Given the description of an element on the screen output the (x, y) to click on. 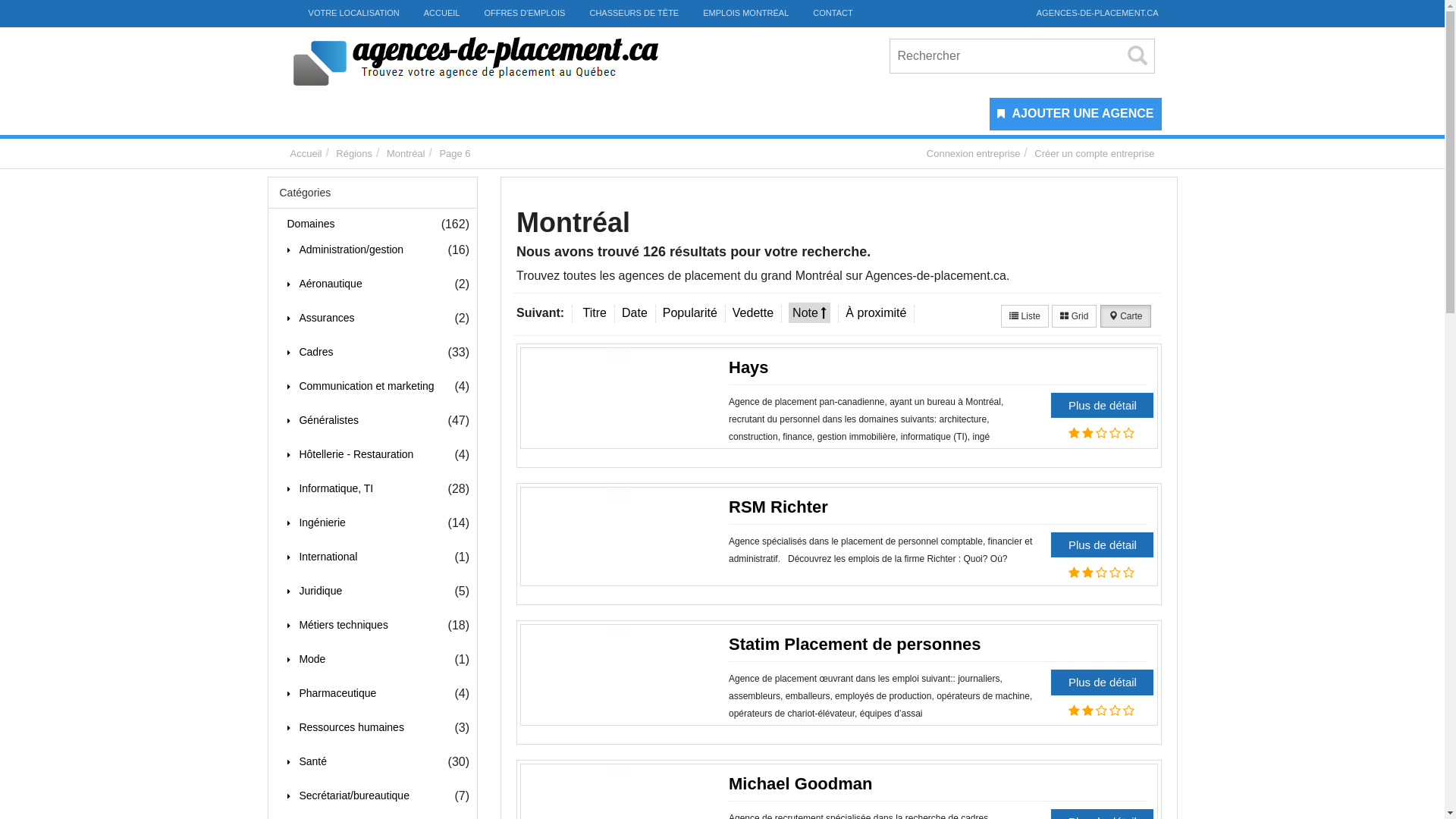
CONTACT Element type: text (832, 13)
Assurances Element type: text (320, 318)
poor Element type: hover (1087, 710)
VOTRE LOCALISATION Element type: text (345, 13)
good Element type: hover (1114, 572)
International Element type: text (321, 557)
Ressources humaines Element type: text (344, 727)
Date Element type: text (634, 312)
Mode Element type: text (305, 659)
Grid Element type: text (1073, 315)
Communication et marketing Element type: text (359, 386)
Pharmaceutique Element type: text (331, 693)
bad Element type: hover (1073, 572)
Domaines Element type: text (306, 223)
very good Element type: hover (1128, 710)
Accueil Element type: text (305, 153)
RSM Richter Element type: text (778, 506)
Michael Goodman Element type: text (800, 783)
bad Element type: hover (1073, 710)
AJOUTER UNE AGENCE Element type: text (1077, 113)
Carte Element type: text (1125, 315)
poor Element type: hover (1087, 572)
Vedette Element type: text (752, 312)
Agences-de-placement.ca Element type: hover (499, 61)
Statim Placement de personnes Element type: text (854, 643)
Note Element type: text (809, 312)
very good Element type: hover (1128, 432)
regular Element type: hover (1101, 572)
poor Element type: hover (1087, 432)
regular Element type: hover (1101, 710)
Hays Element type: text (748, 366)
Cadres Element type: text (309, 352)
ACCUEIL Element type: text (441, 13)
bad Element type: hover (1073, 432)
very good Element type: hover (1128, 572)
Juridique Element type: text (314, 591)
Liste Element type: text (1024, 315)
regular Element type: hover (1101, 432)
Connexion entreprise Element type: text (973, 153)
Titre Element type: text (594, 312)
Informatique, TI Element type: text (329, 488)
Page 6 Element type: text (454, 153)
good Element type: hover (1114, 432)
Administration/gestion Element type: text (344, 250)
good Element type: hover (1114, 710)
